Given the description of an element on the screen output the (x, y) to click on. 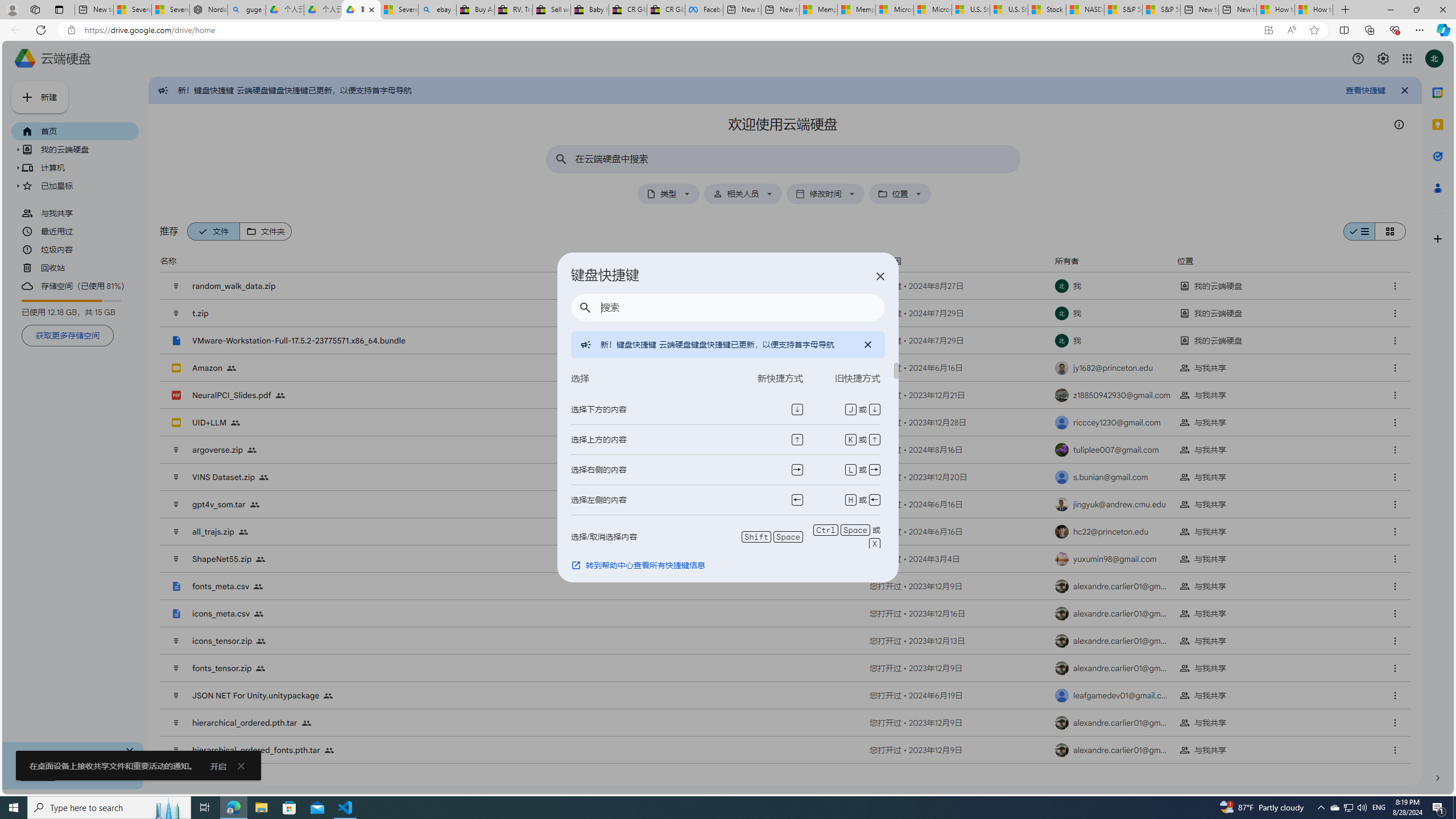
guge yunpan - Search (246, 9)
Address and search bar (669, 29)
Facebook (703, 9)
Nordace - Summer Adventures 2024 (208, 9)
